Given the description of an element on the screen output the (x, y) to click on. 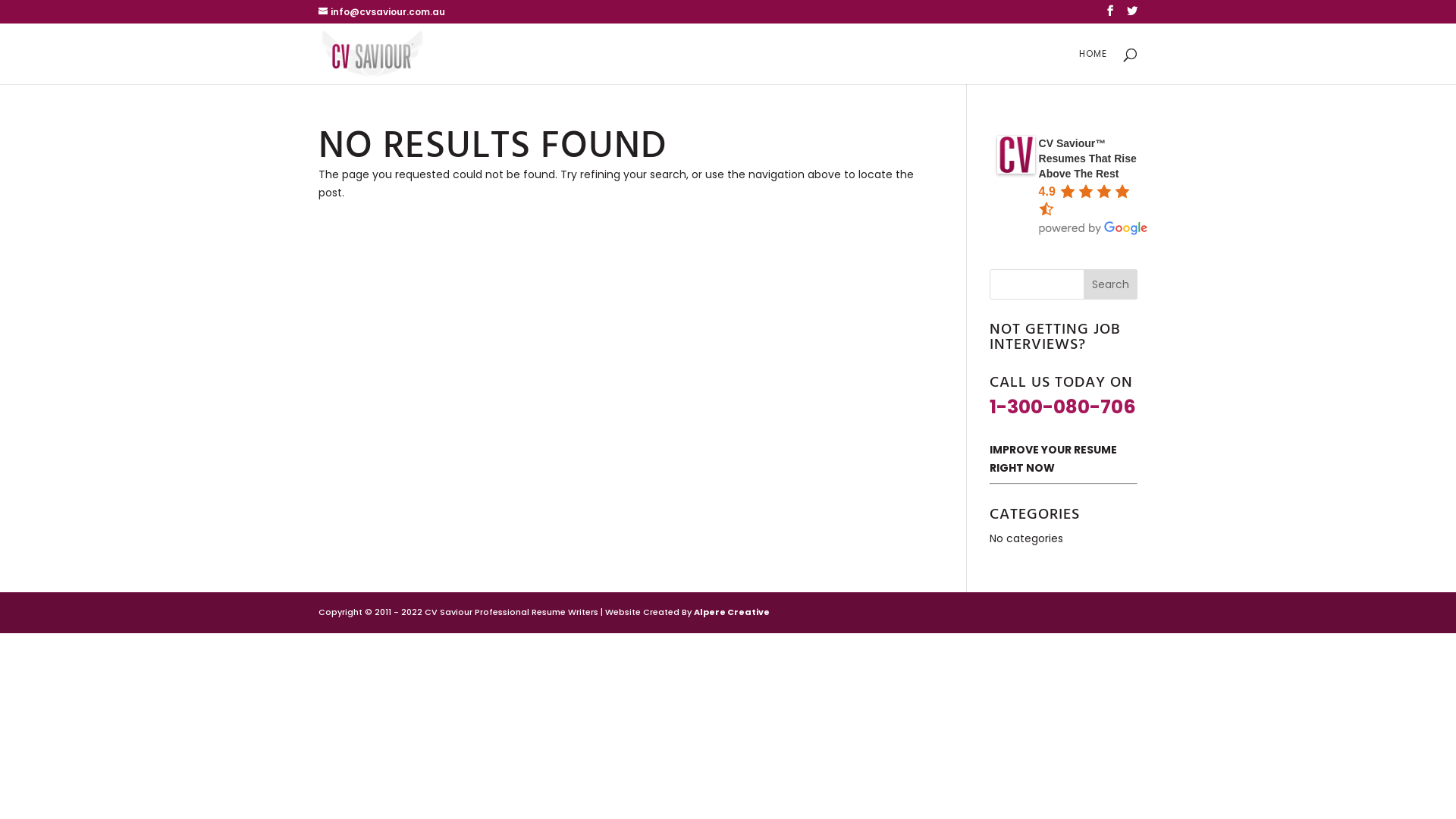
HOME Element type: text (1093, 66)
powered by Google Element type: hover (1093, 228)
Search Element type: text (1110, 284)
Alpere Creative Element type: text (731, 611)
info@cvsaviour.com.au Element type: text (381, 11)
